Given the description of an element on the screen output the (x, y) to click on. 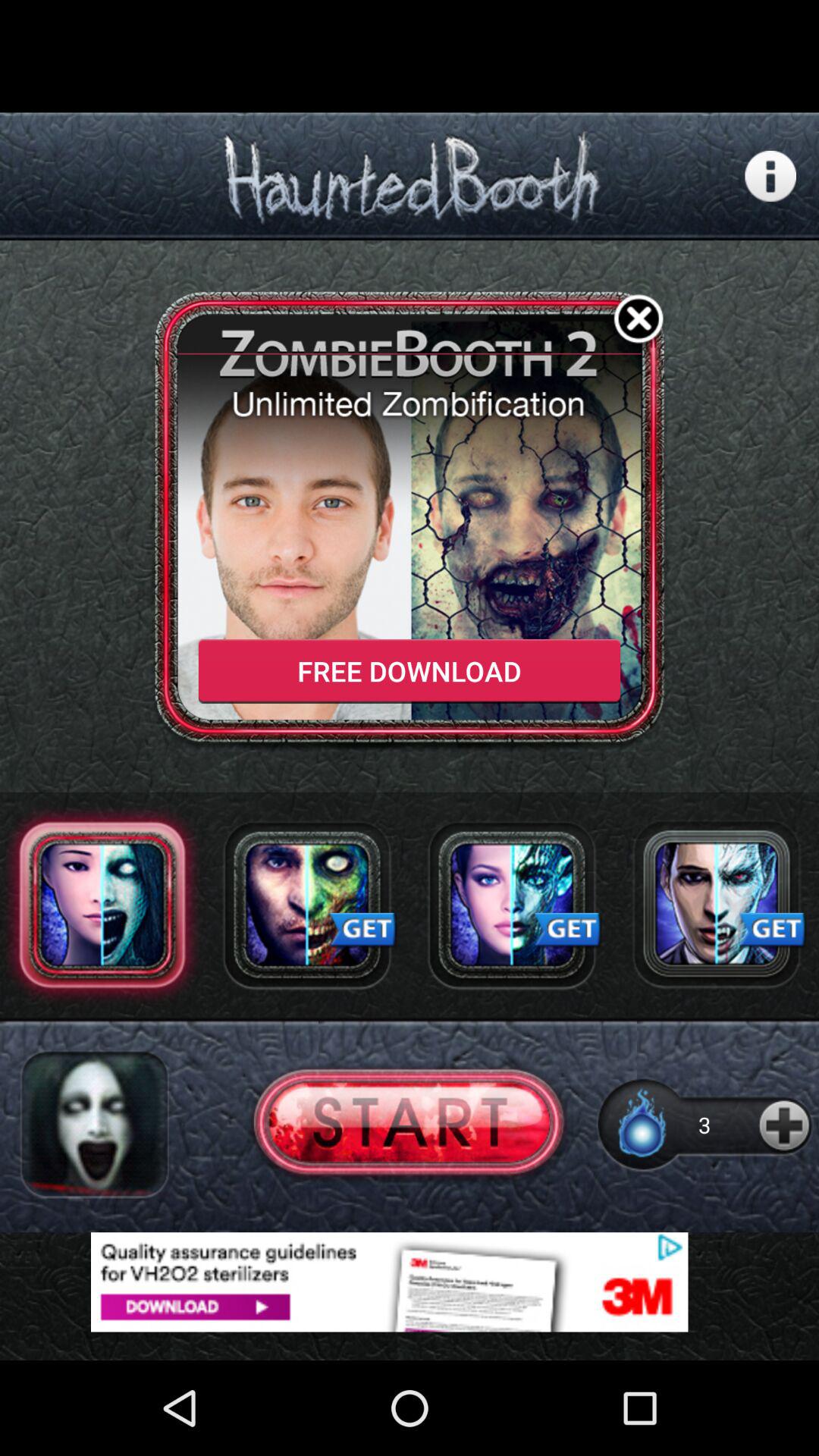
view information (770, 175)
